Given the description of an element on the screen output the (x, y) to click on. 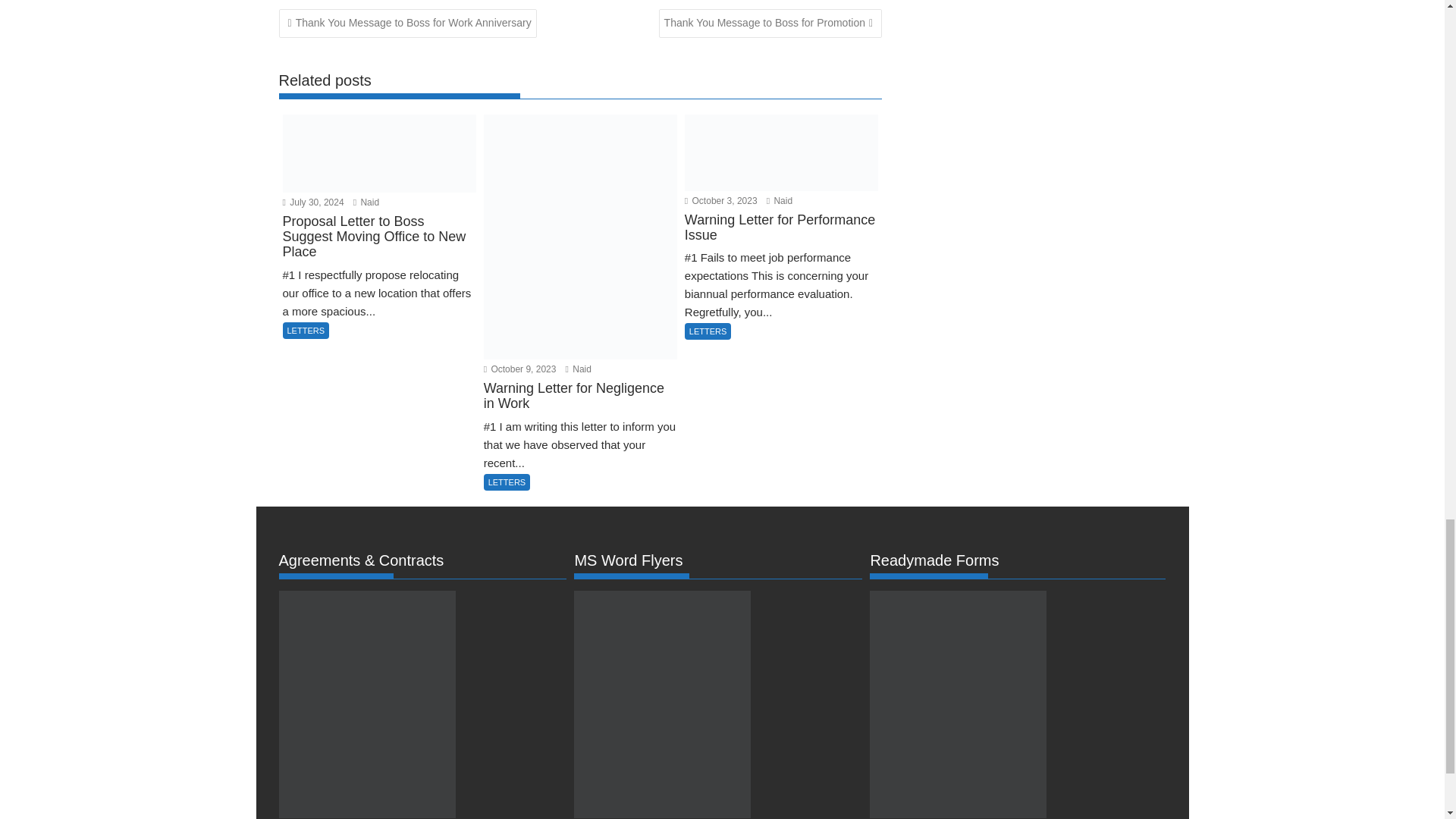
Naid (365, 202)
July 30, 2024 (312, 202)
Warning Letter for Negligence in Work (580, 406)
LETTERS (507, 482)
Naid (578, 368)
October 3, 2023 (720, 200)
Proposal Letter to Boss Suggest Moving Office to New Place (379, 246)
October 9, 2023 (519, 368)
Thank You Message to Boss for Promotion (770, 22)
LETTERS (305, 330)
